Given the description of an element on the screen output the (x, y) to click on. 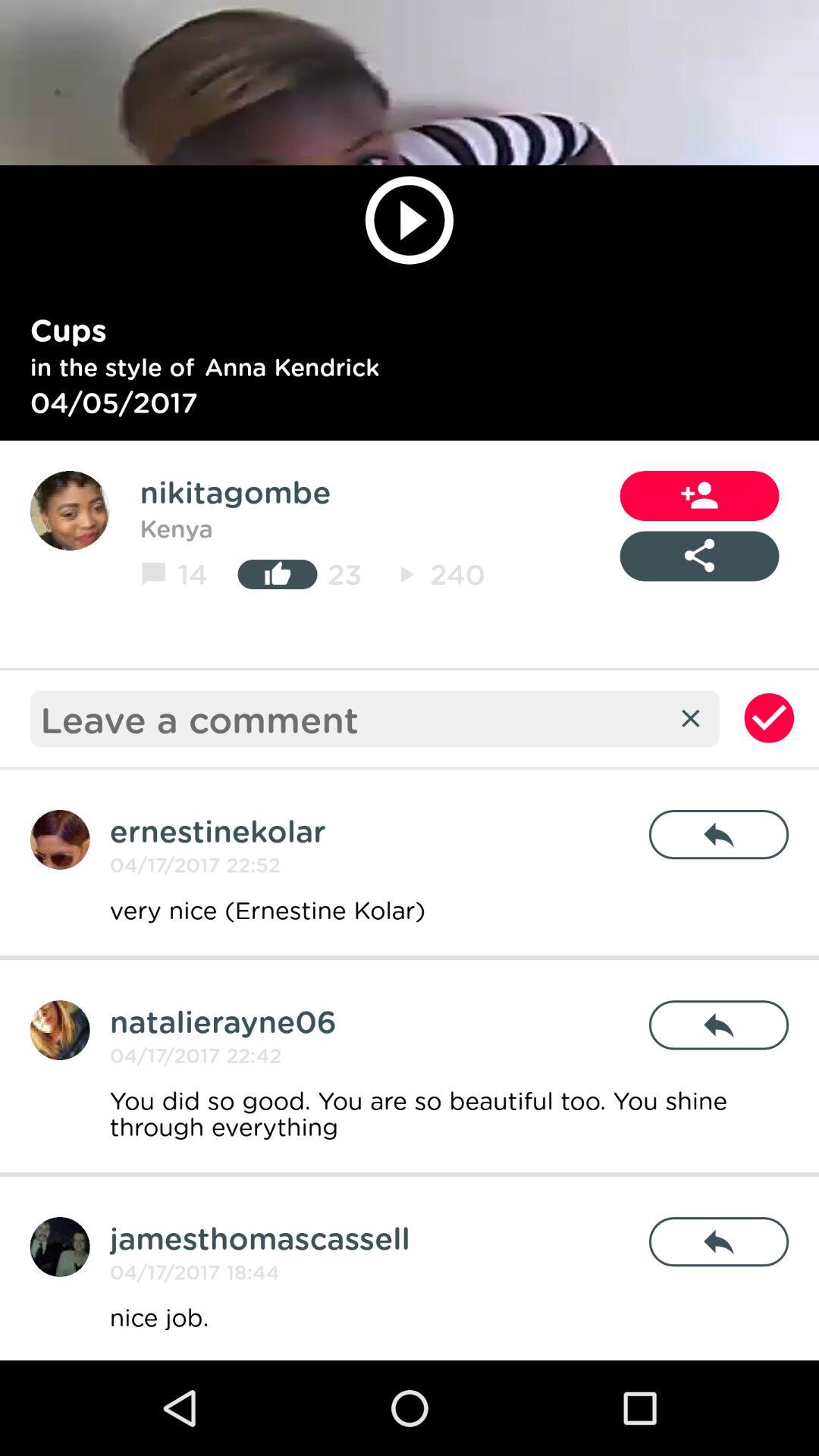
view profile (69, 510)
